Given the description of an element on the screen output the (x, y) to click on. 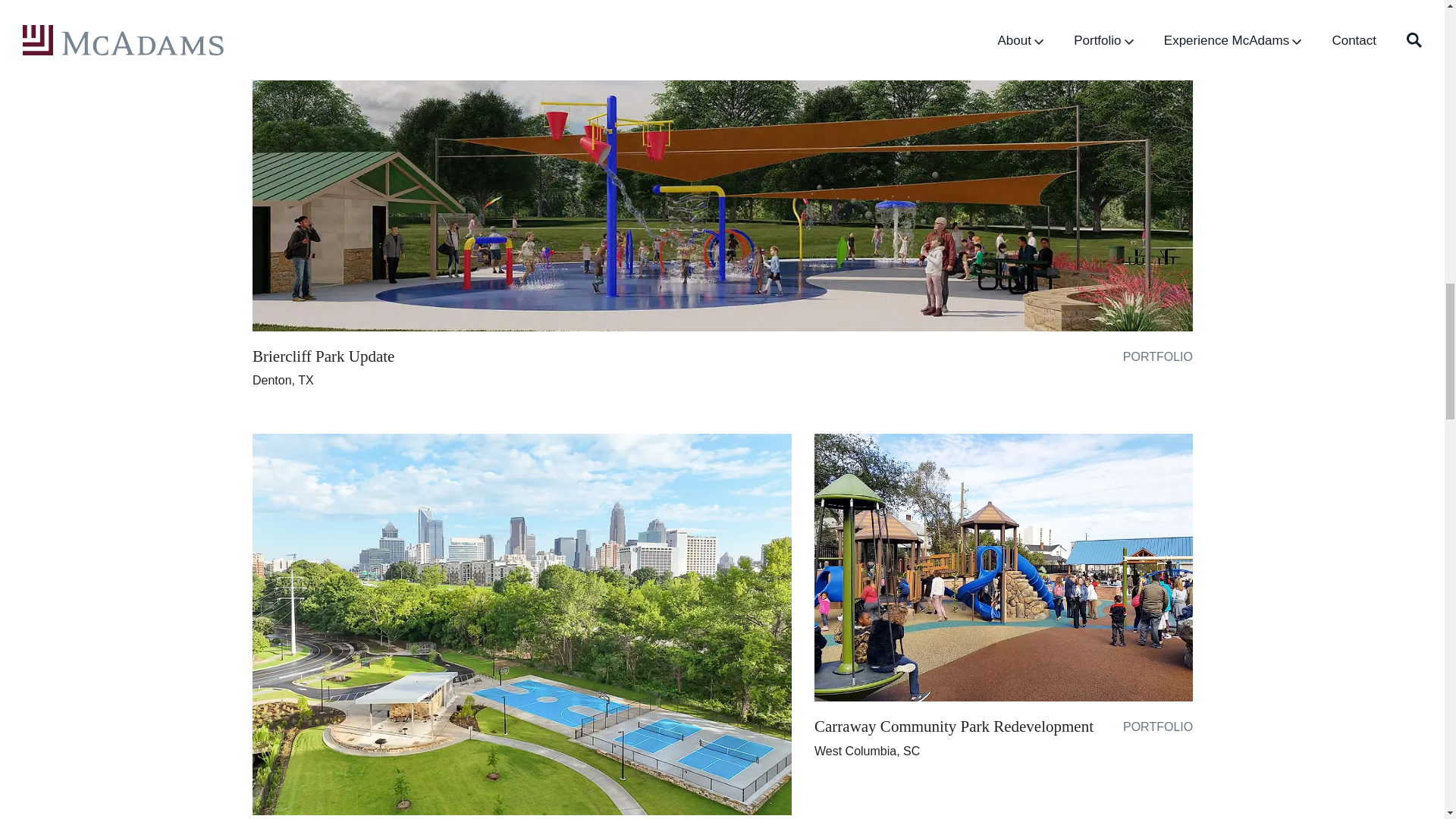
Briercliff Park Update (322, 356)
